Given the description of an element on the screen output the (x, y) to click on. 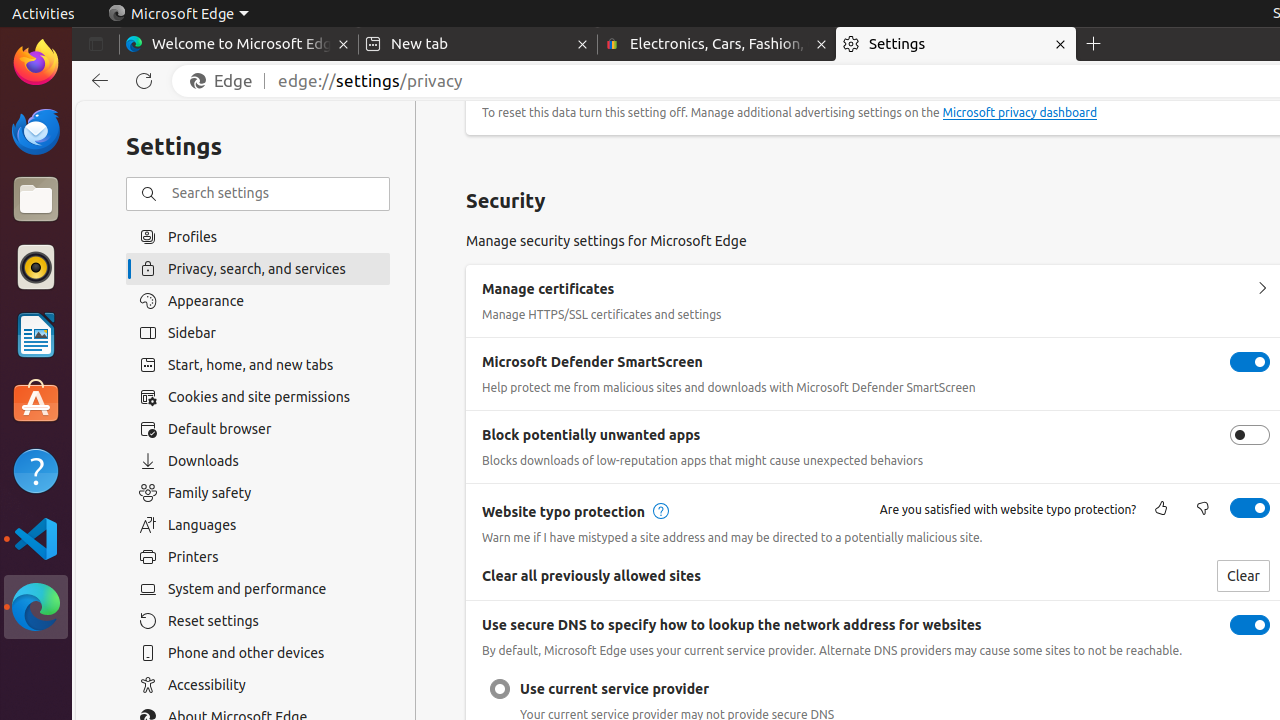
Rhythmbox Element type: push-button (36, 267)
New Tab Element type: push-button (1094, 44)
Printers Element type: tree-item (258, 557)
Start, home, and new tabs Element type: tree-item (258, 365)
Languages Element type: tree-item (258, 525)
